Given the description of an element on the screen output the (x, y) to click on. 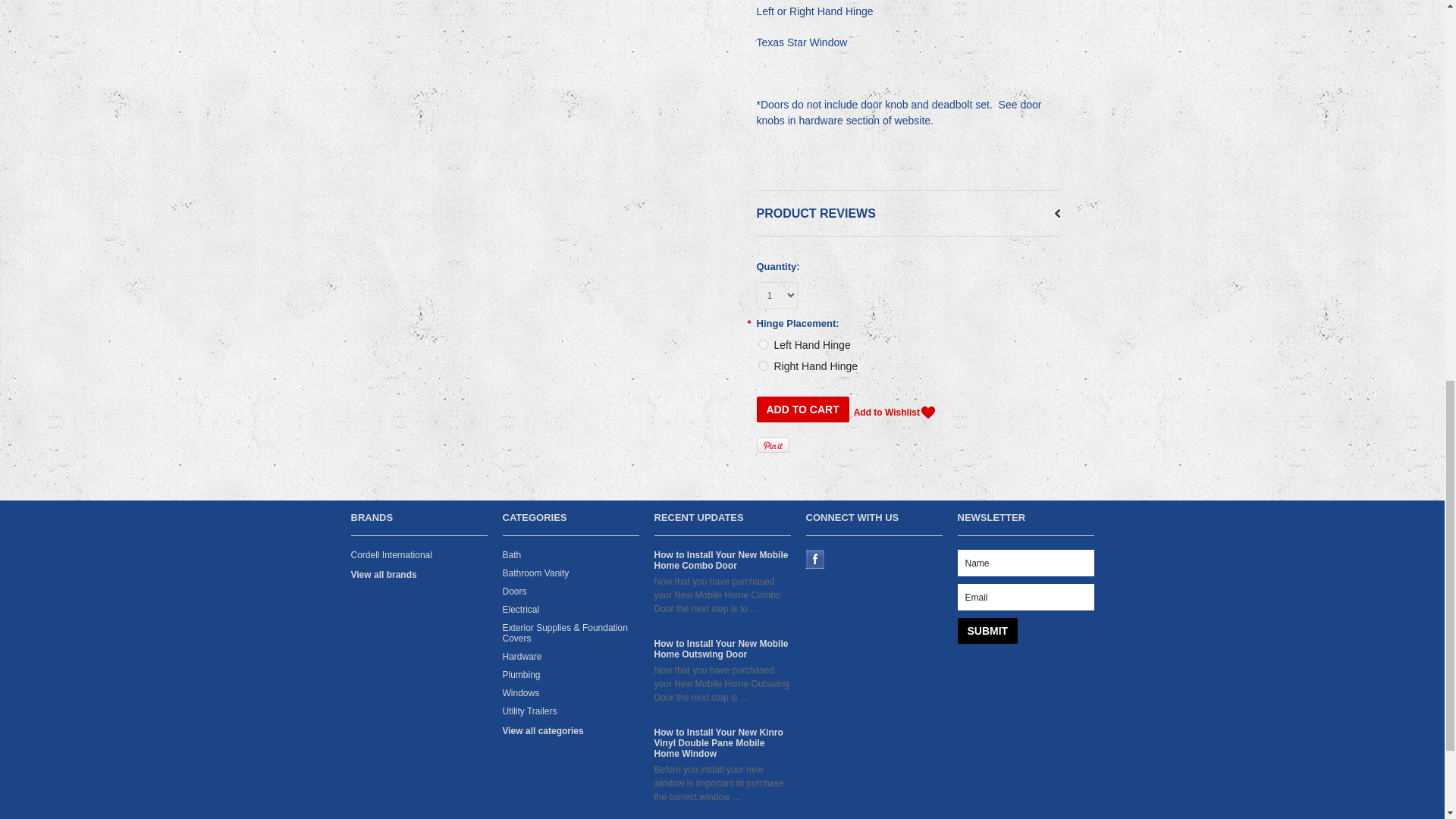
87 (763, 366)
Name (1024, 562)
Add To Cart (802, 409)
Submit (986, 630)
Add to Wishlist (893, 412)
Facebook (814, 558)
Email (1024, 596)
Add to Wishlist (893, 412)
Add To Cart (802, 409)
86 (763, 344)
